Given the description of an element on the screen output the (x, y) to click on. 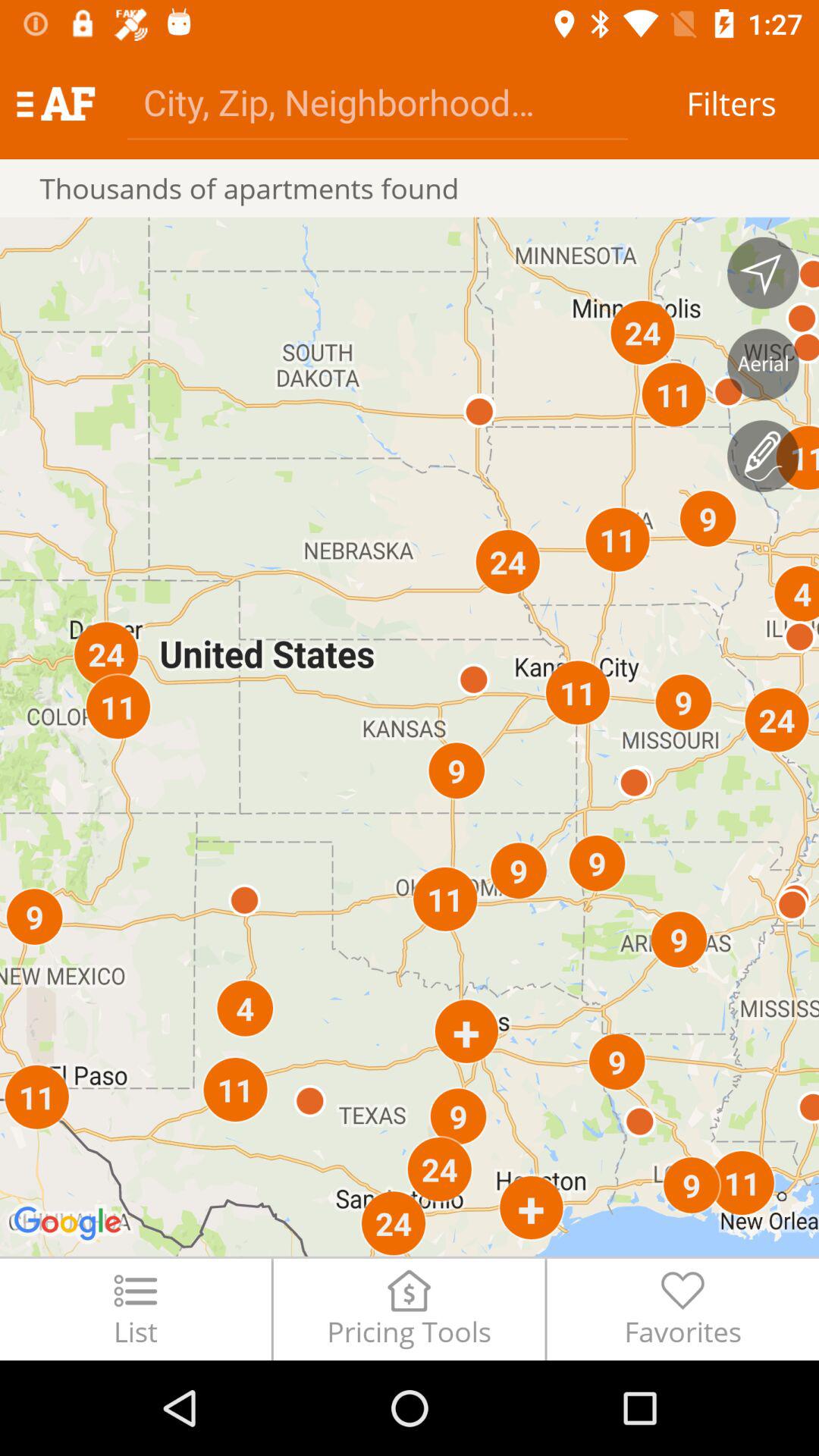
press the icon to the left of the favorites (408, 1309)
